Given the description of an element on the screen output the (x, y) to click on. 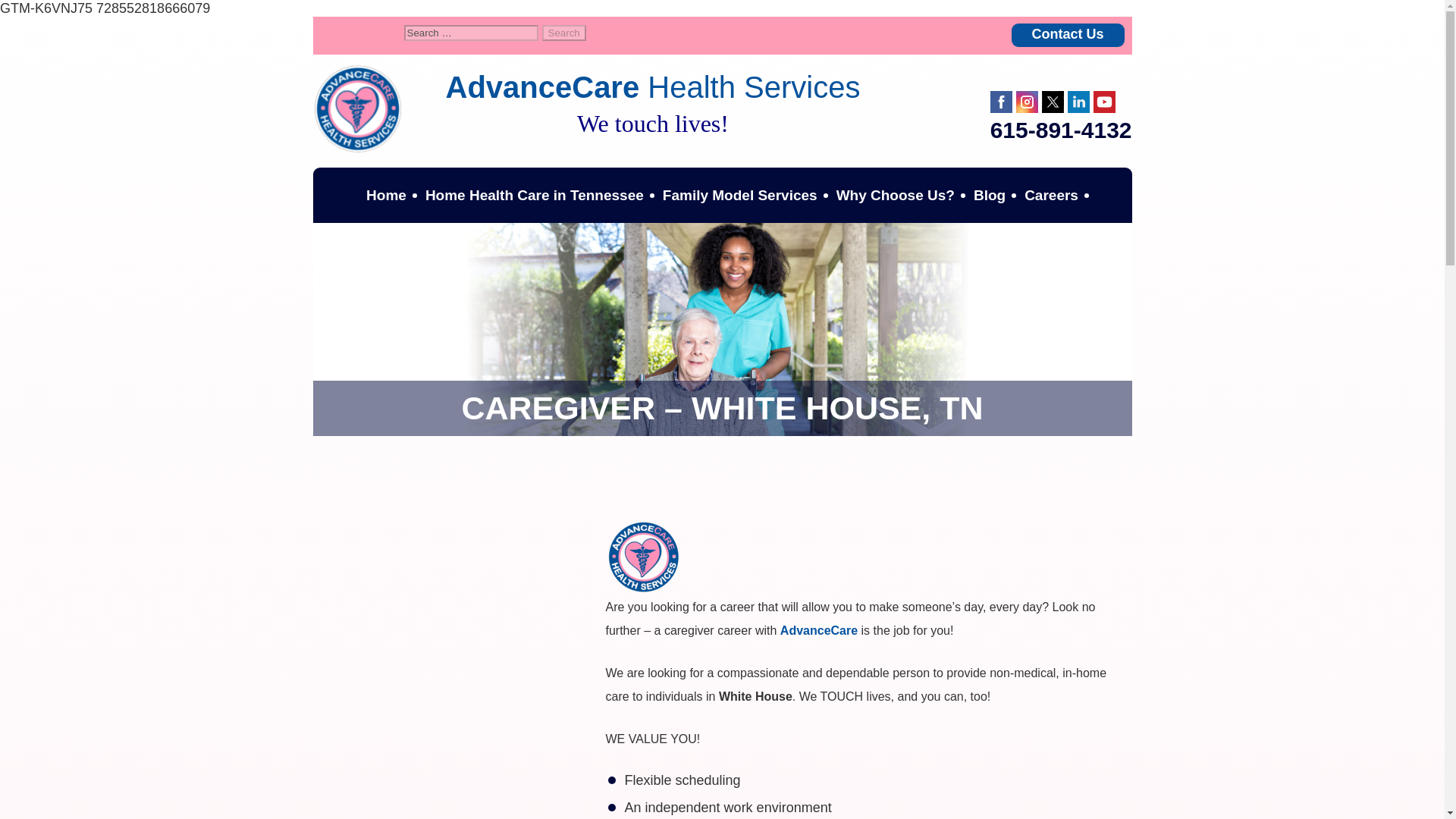
Careers (1051, 194)
Why Choose Us? (895, 194)
Search (563, 32)
Family Model Services (740, 194)
Home (385, 194)
Contact Us (1067, 34)
Search (563, 32)
Home Health Care in Tennessee (533, 194)
Search (563, 32)
Start Care Now (721, 250)
